Given the description of an element on the screen output the (x, y) to click on. 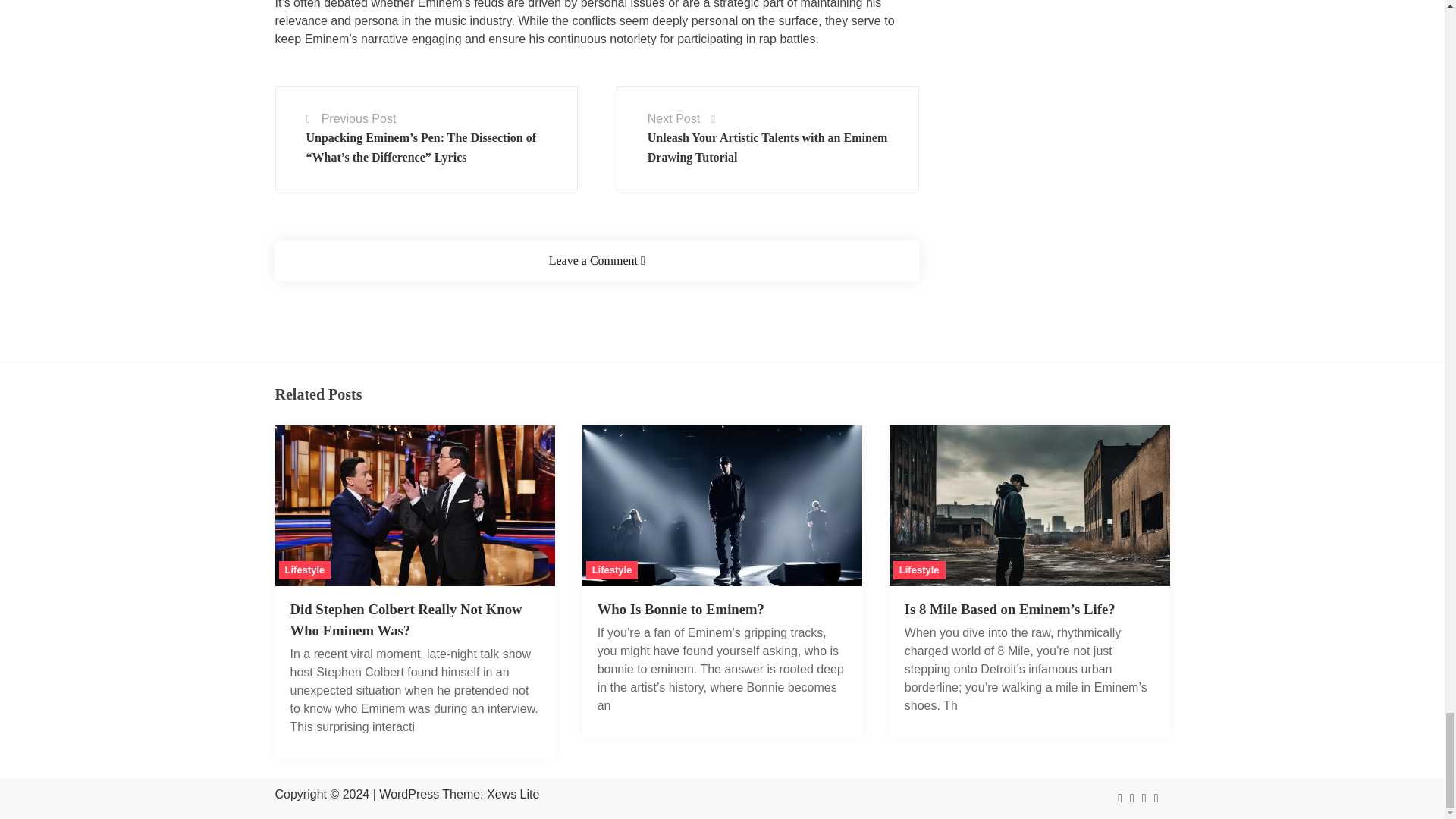
Who Is Bonnie to Eminem? (680, 609)
Next Post (673, 118)
Who Is Bonnie to Eminem? (722, 581)
Did Stephen Colbert Really Not Know Who Eminem Was? (405, 619)
Lifestyle (305, 570)
Previous Post (358, 118)
Did Stephen Colbert Really Not Know Who Eminem Was? (414, 581)
Xews Lite (512, 793)
Lifestyle (918, 570)
